Given the description of an element on the screen output the (x, y) to click on. 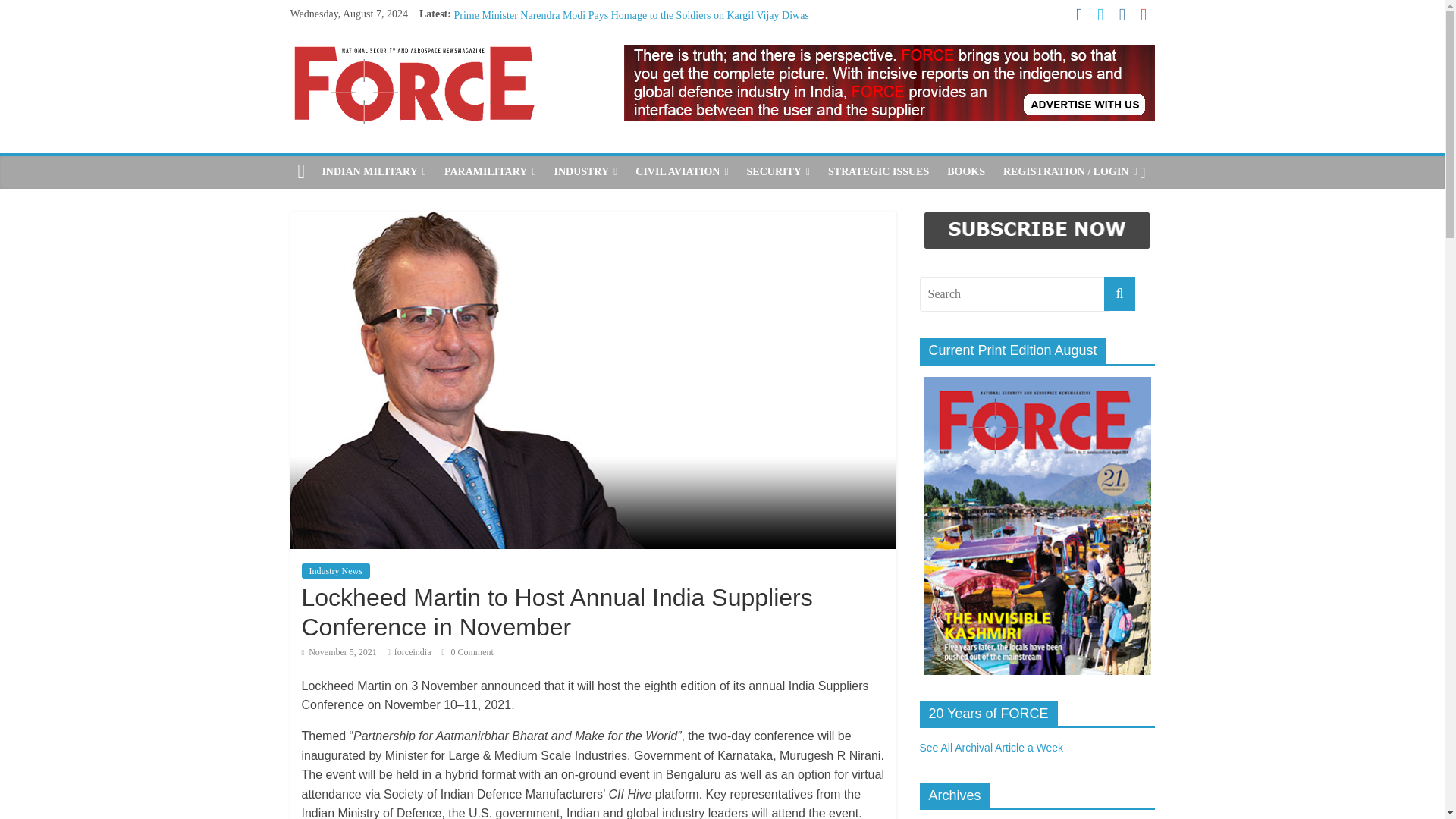
INDIAN MILITARY (374, 172)
HENSOLDT Receives Major Orders for German Army Air Defence (597, 66)
5:51 am (339, 652)
INDUSTRY (585, 172)
